Given the description of an element on the screen output the (x, y) to click on. 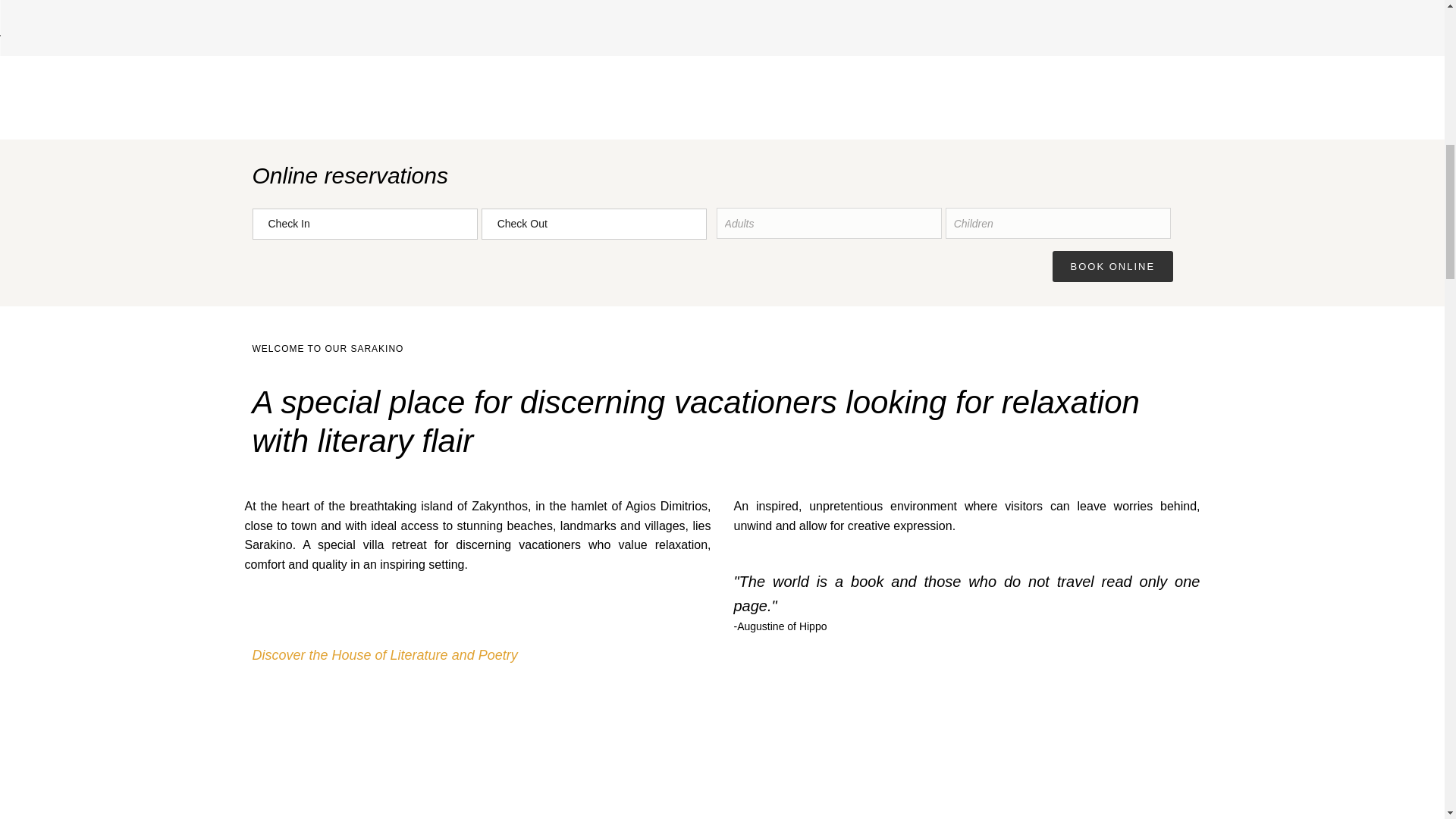
04 (632, 50)
05 (839, 50)
06 (1046, 50)
03 (426, 50)
02 (220, 50)
01 (13, 50)
BOOK ONLINE (1112, 265)
07 (1252, 50)
Discover the House of Literature and Poetry (383, 654)
